Given the description of an element on the screen output the (x, y) to click on. 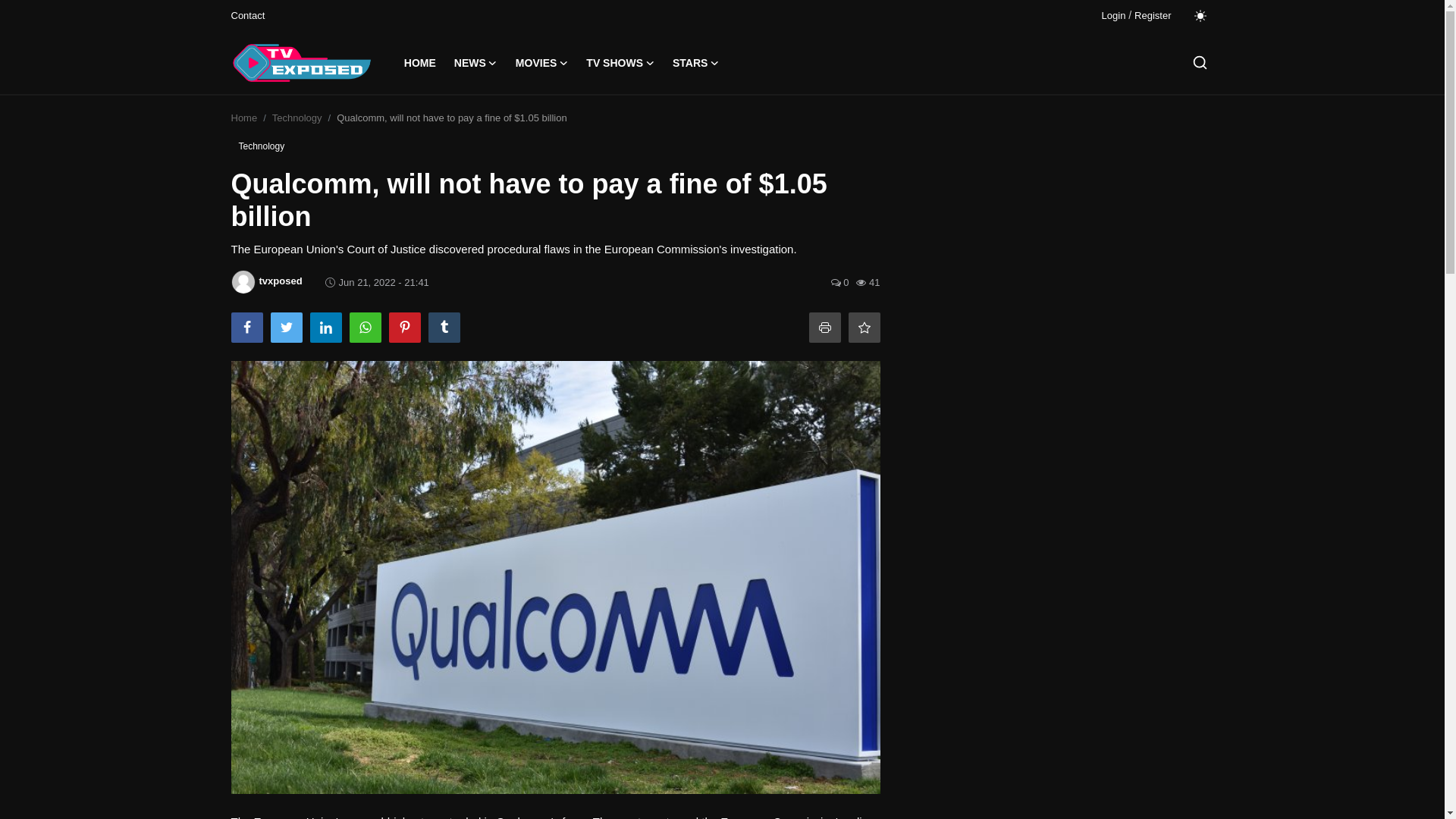
light (1199, 15)
Register (1152, 15)
MOVIES (541, 62)
NEWS (475, 62)
Login (1113, 15)
Contact (247, 15)
TV SHOWS (619, 62)
Add to Reading List (863, 327)
STARS (695, 62)
